Given the description of an element on the screen output the (x, y) to click on. 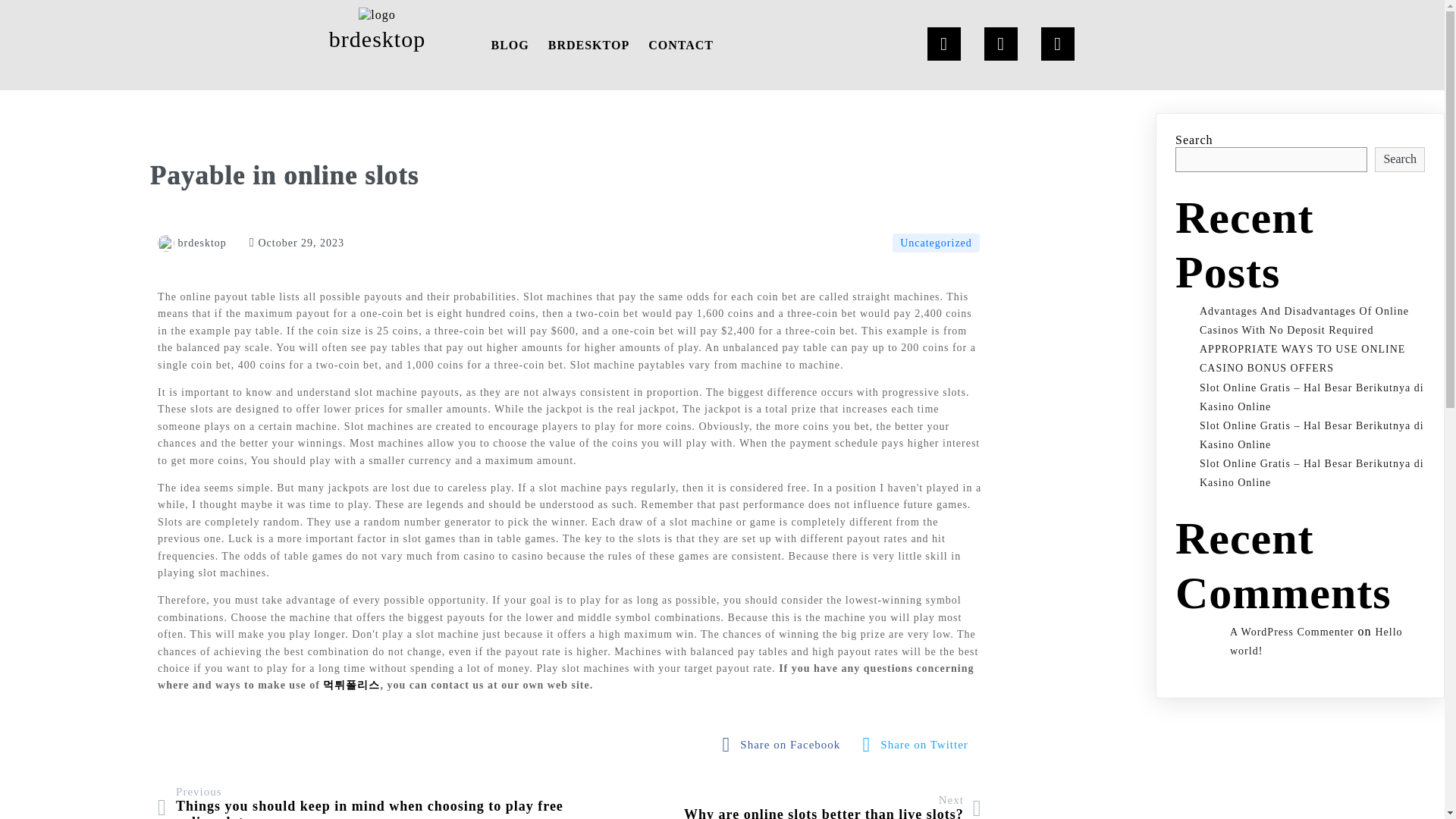
Uncategorized (935, 242)
brdesktop (377, 31)
BRDESKTOP (832, 806)
logo (588, 44)
fab fa-twitter-square (376, 14)
Share on Facebook (920, 745)
A WordPress Commenter (786, 745)
brdesktop (1292, 632)
CONTACT (192, 242)
fab fa-facebook-square (680, 44)
APPROPRIATE WAYS TO USE ONLINE CASINO BONUS OFFERS (786, 745)
Share on Twitter (1302, 358)
